Given the description of an element on the screen output the (x, y) to click on. 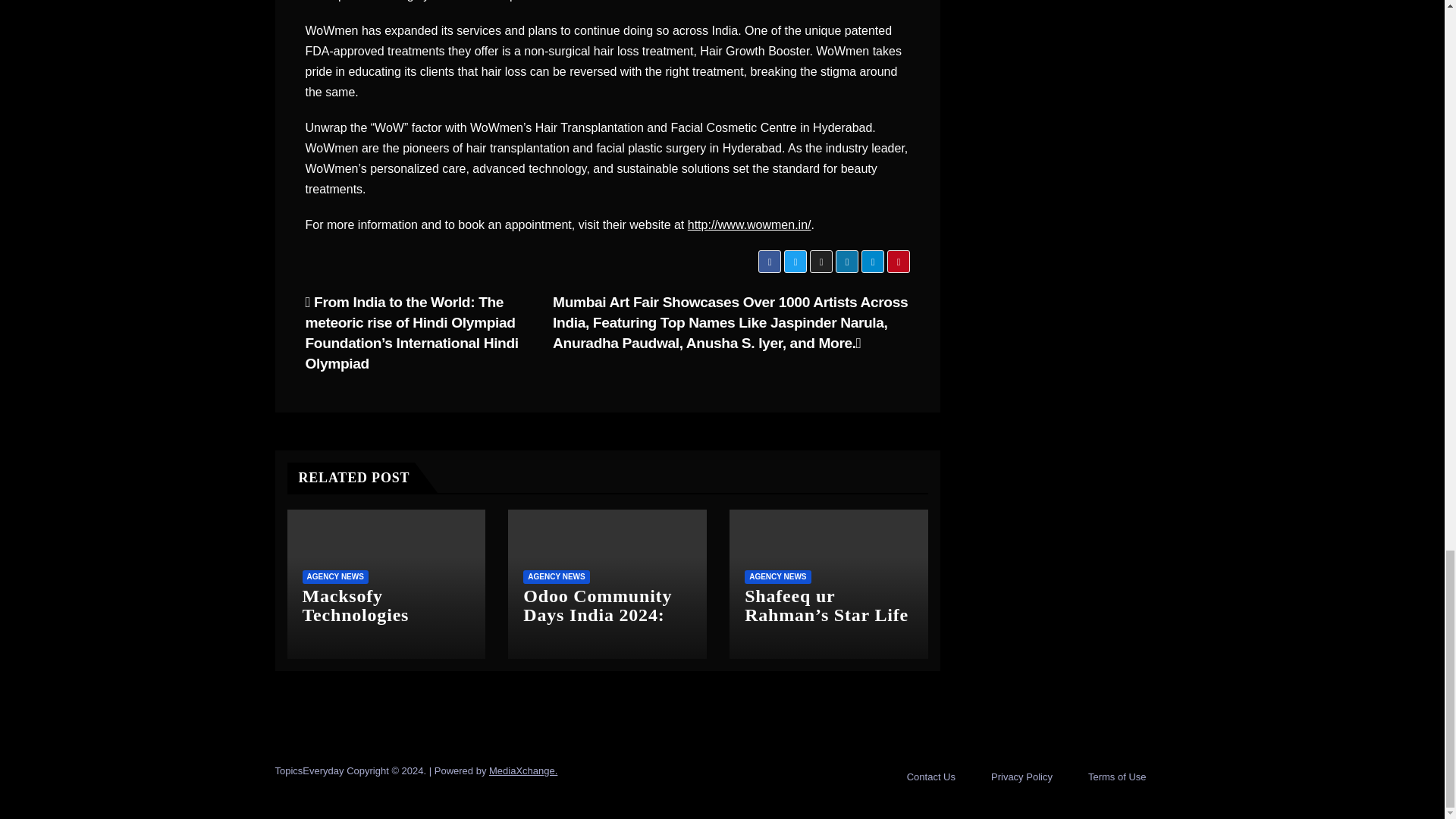
AGENCY NEWS (555, 576)
Contact Us (931, 776)
AGENCY NEWS (777, 576)
AGENCY NEWS (334, 576)
